Given the description of an element on the screen output the (x, y) to click on. 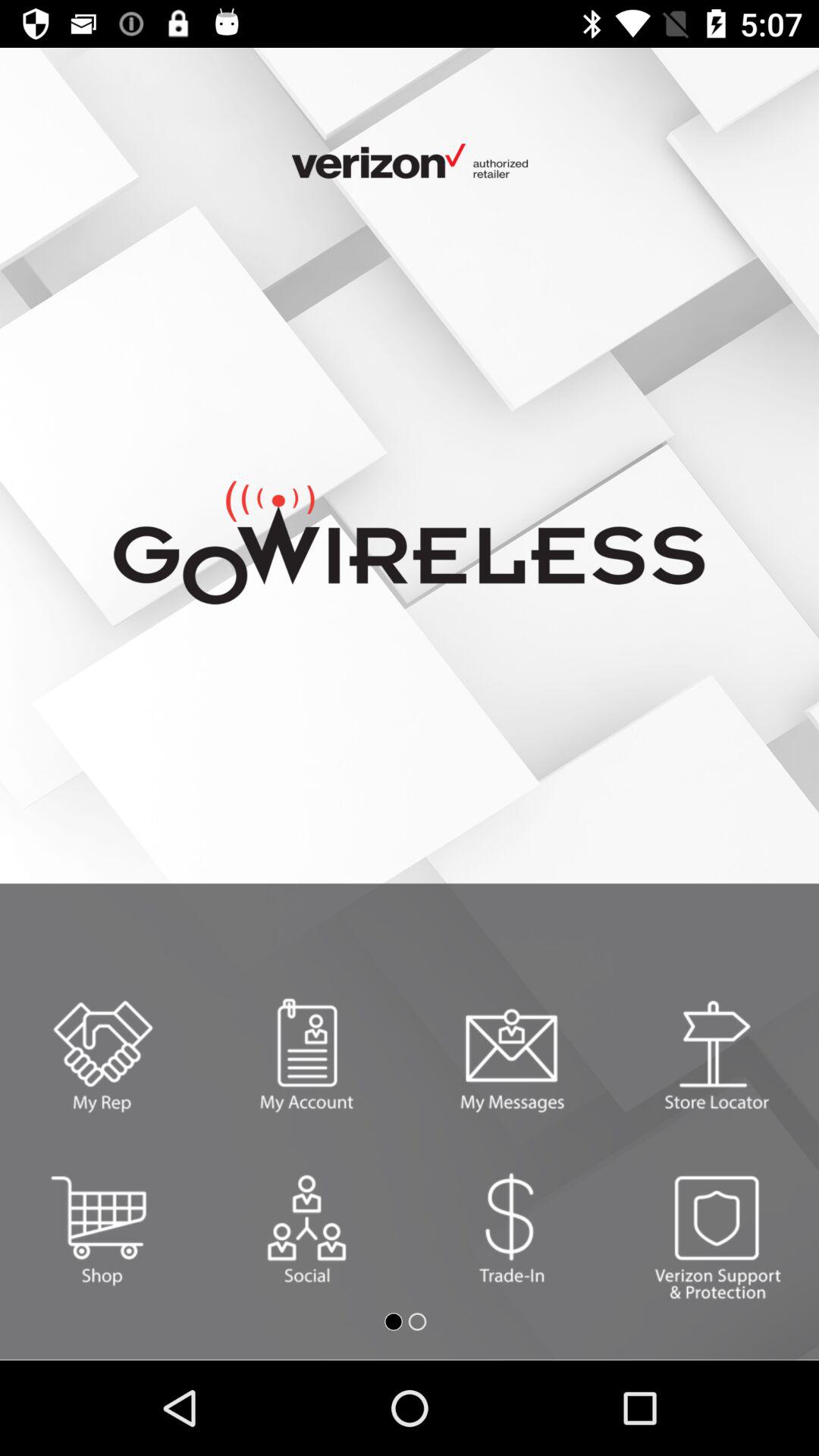
shopping box option (102, 1228)
